Given the description of an element on the screen output the (x, y) to click on. 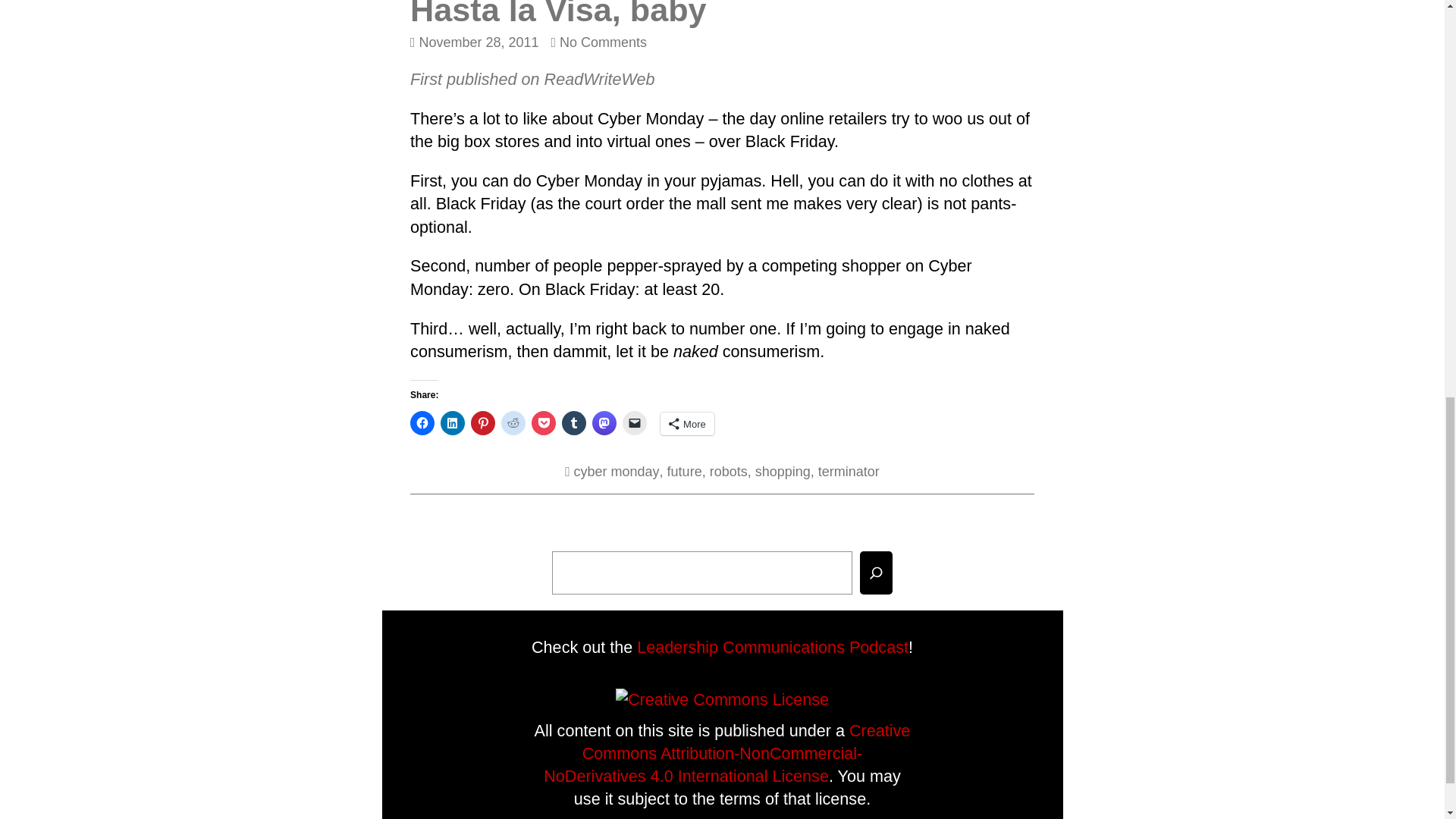
cyber monday (616, 471)
First published on ReadWriteWeb (598, 42)
Hasta la Visa, baby (531, 78)
More (558, 13)
future (687, 423)
robots (683, 471)
